Given the description of an element on the screen output the (x, y) to click on. 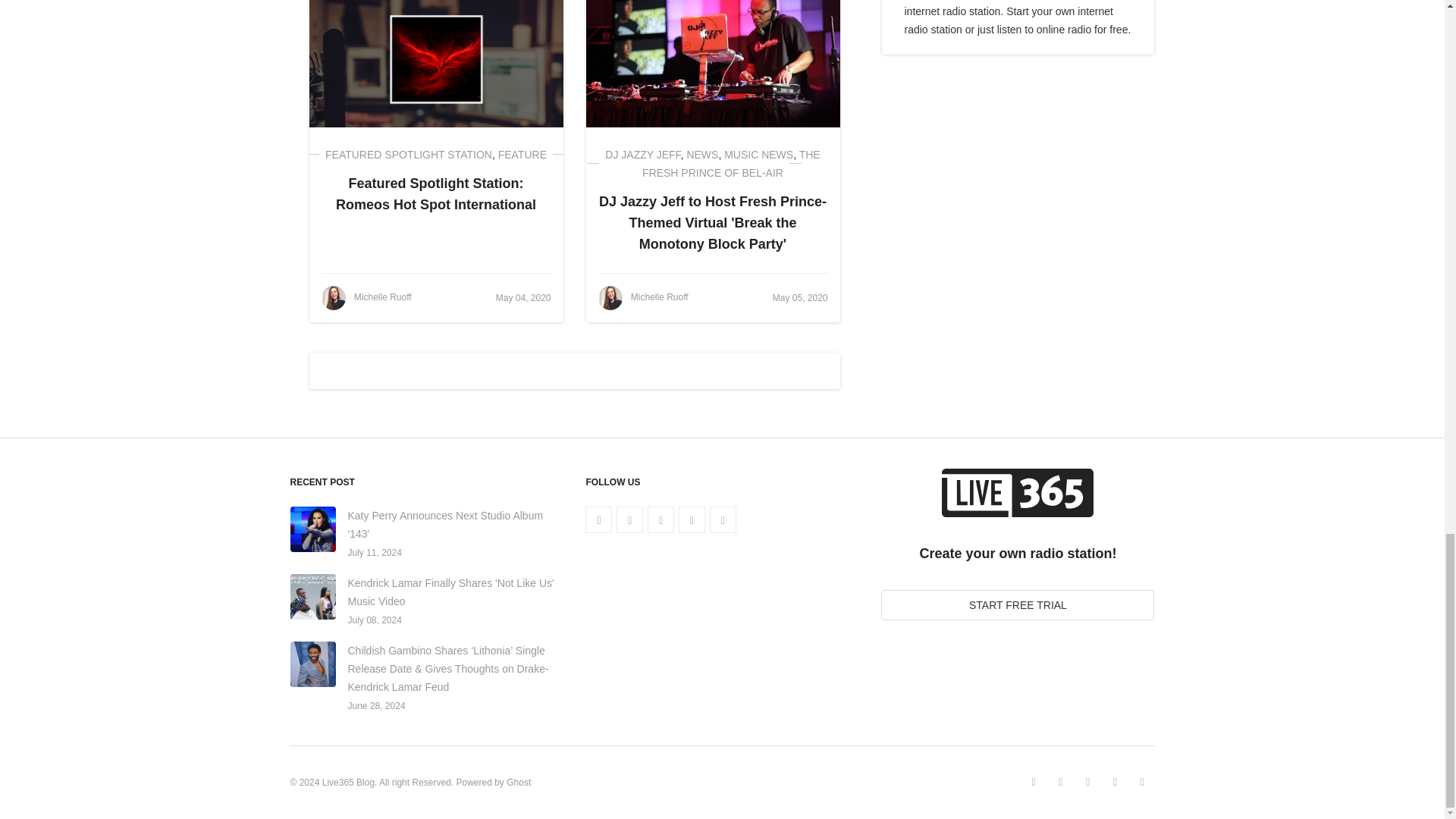
FEATURED SPOTLIGHT STATION (408, 154)
DJ JAZZY JEFF (642, 154)
MUSIC NEWS (758, 154)
Featured Spotlight Station: Romeos Hot Spot International (435, 194)
NEWS (701, 154)
FEATURE (522, 154)
START FREE TRIAL (1017, 604)
Michelle Ruoff (366, 296)
THE FRESH PRINCE OF BEL-AIR (731, 163)
